Given the description of an element on the screen output the (x, y) to click on. 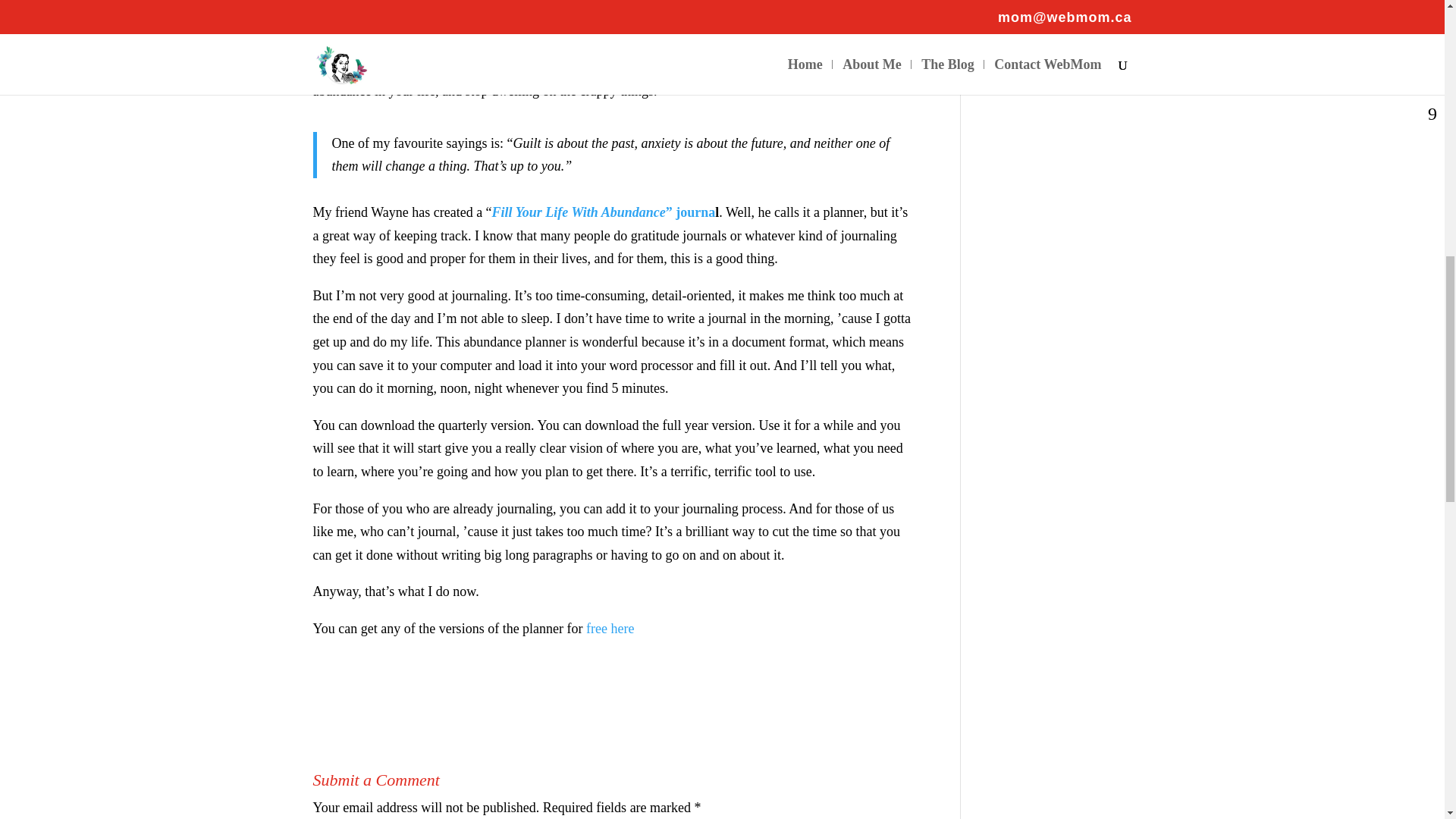
Sushi workshop (1027, 10)
free here (609, 628)
Random Acts of Kindness (1055, 33)
